Given the description of an element on the screen output the (x, y) to click on. 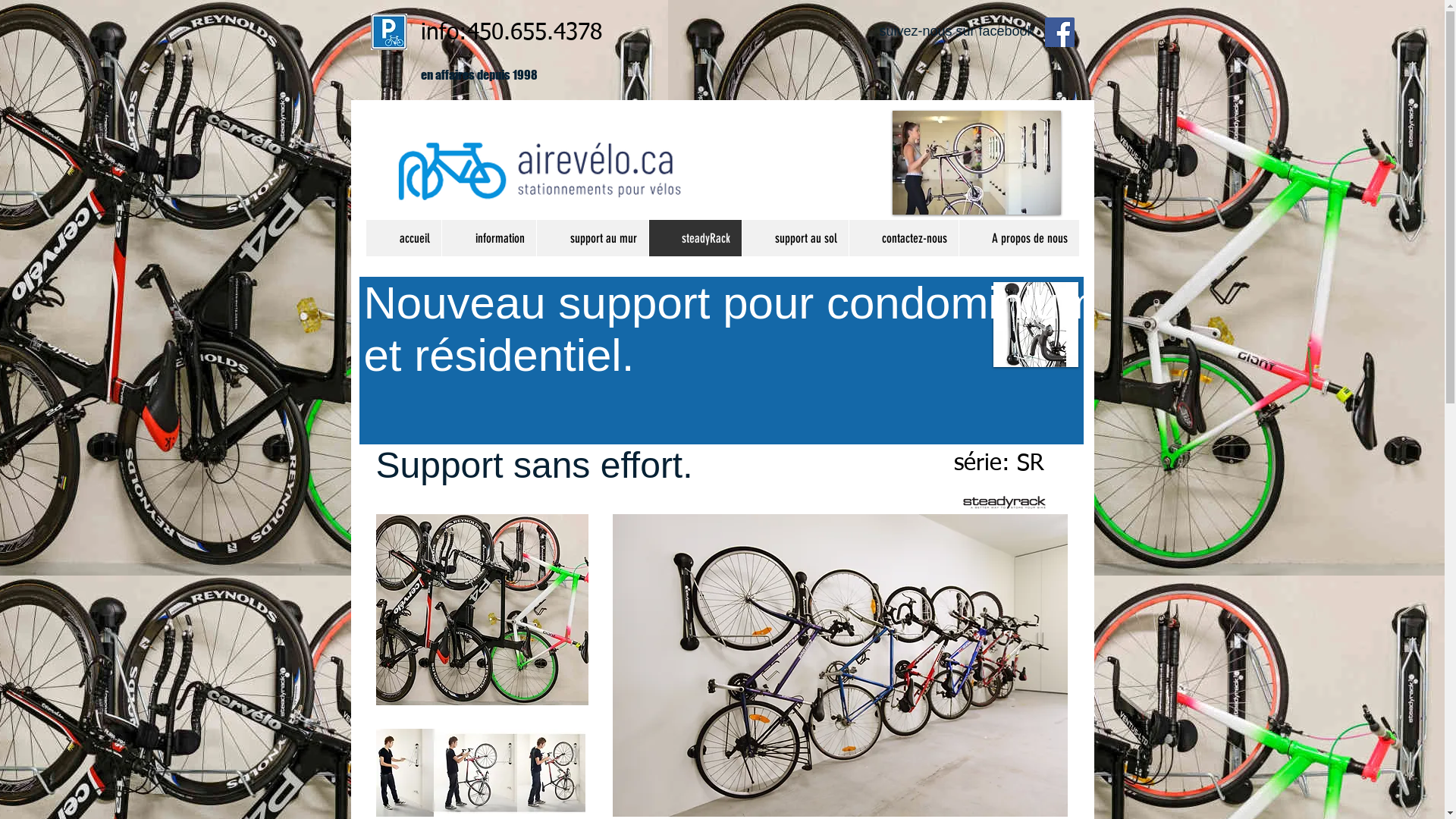
accueil Element type: text (402, 237)
steadyRack Element type: text (693, 237)
contactez-nous Element type: text (902, 237)
information Element type: text (488, 237)
support au sol Element type: text (794, 237)
support au mur Element type: text (591, 237)
info:450.655.4378 Element type: text (510, 32)
A propos de nous Element type: text (1018, 237)
